Given the description of an element on the screen output the (x, y) to click on. 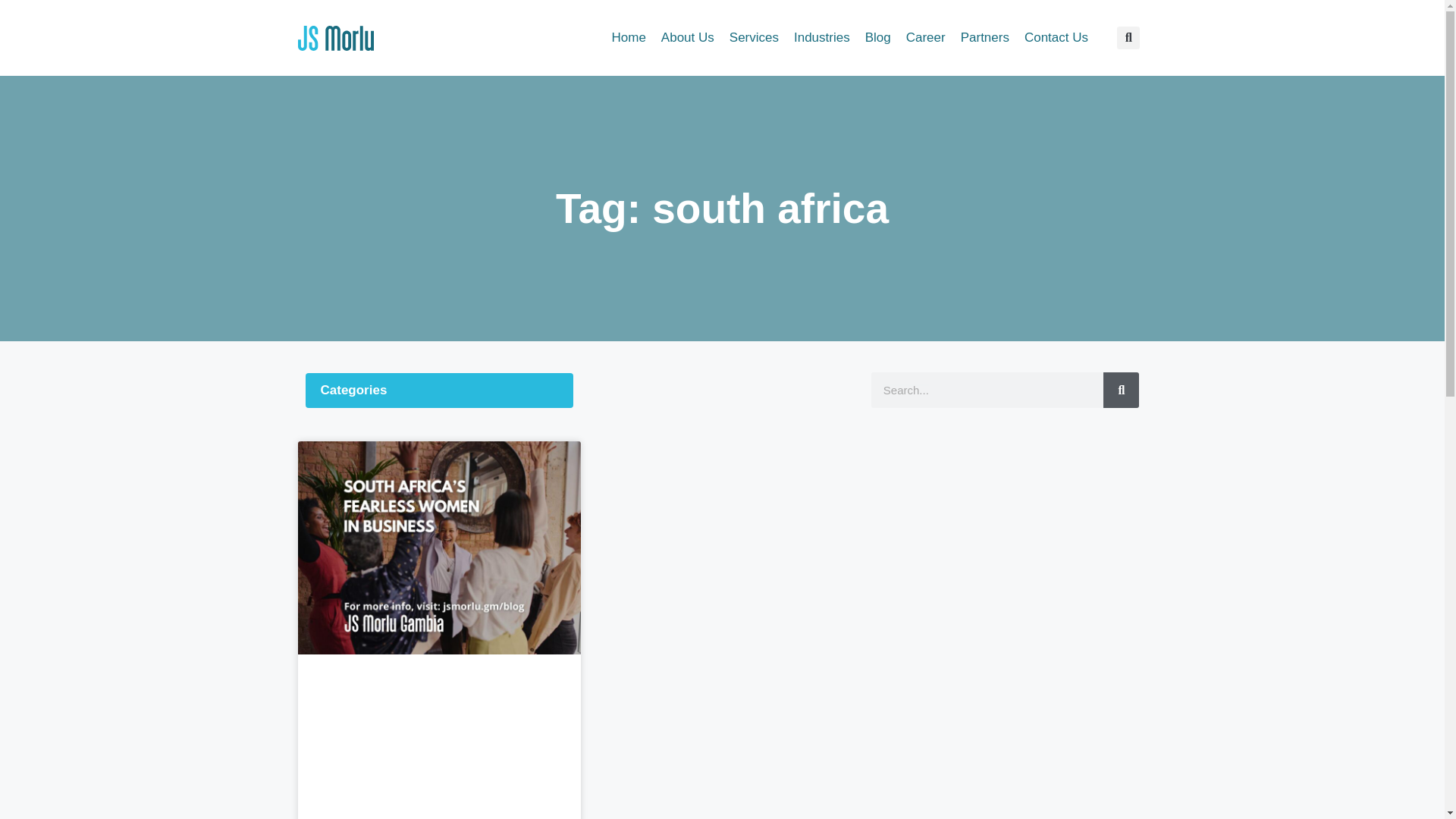
jsmorlu-site-logo (334, 37)
